Given the description of an element on the screen output the (x, y) to click on. 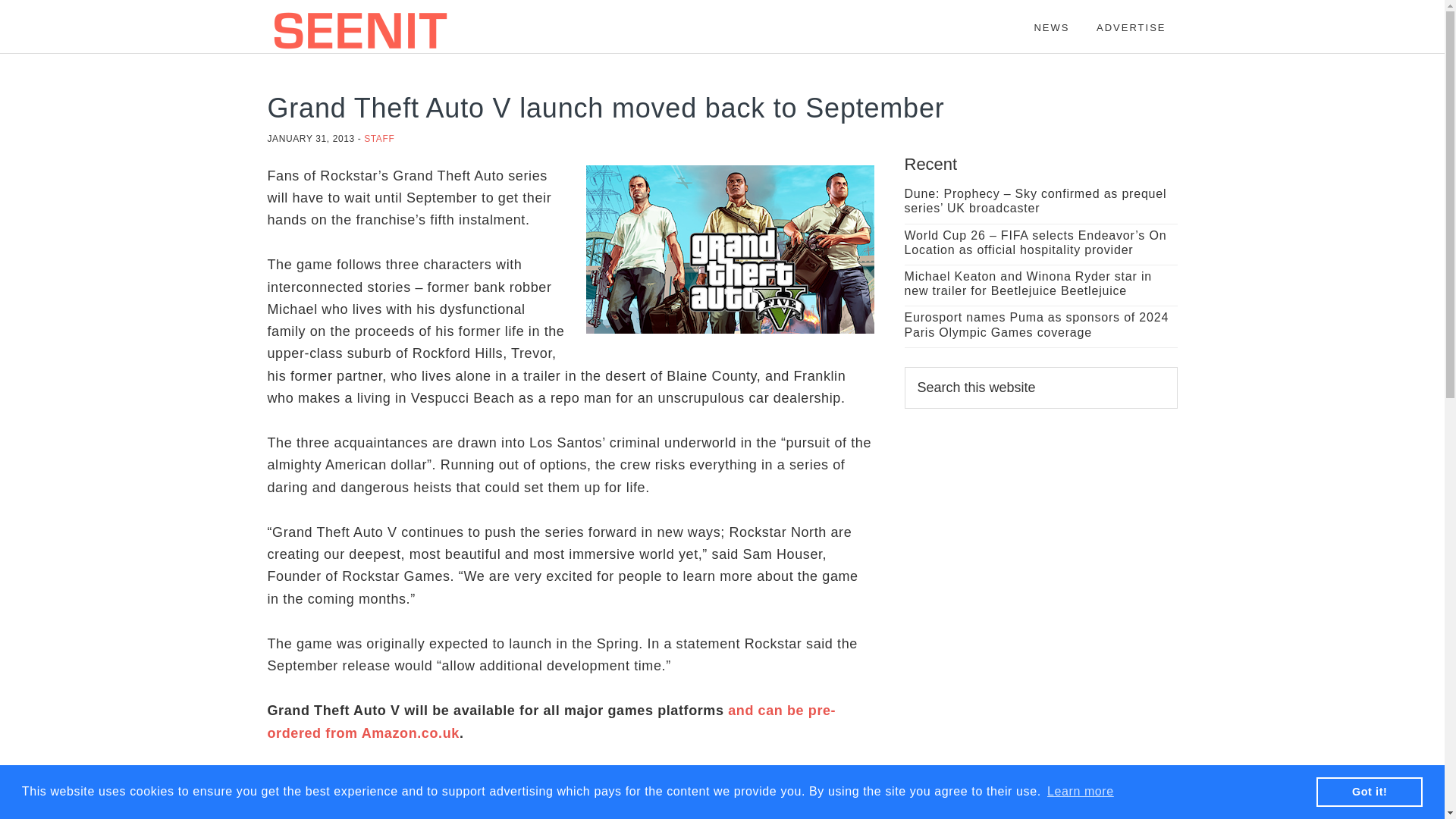
STAFF (379, 138)
Click to share on Facebook (309, 807)
Got it! (1369, 791)
Click to share on Twitter (278, 807)
Click to share on Reddit (369, 807)
Click to share on Pinterest (430, 807)
Learn more (1080, 791)
Click to share on LinkedIn (339, 807)
Advertisement (1040, 628)
Click to share on Tumblr (400, 807)
